Given the description of an element on the screen output the (x, y) to click on. 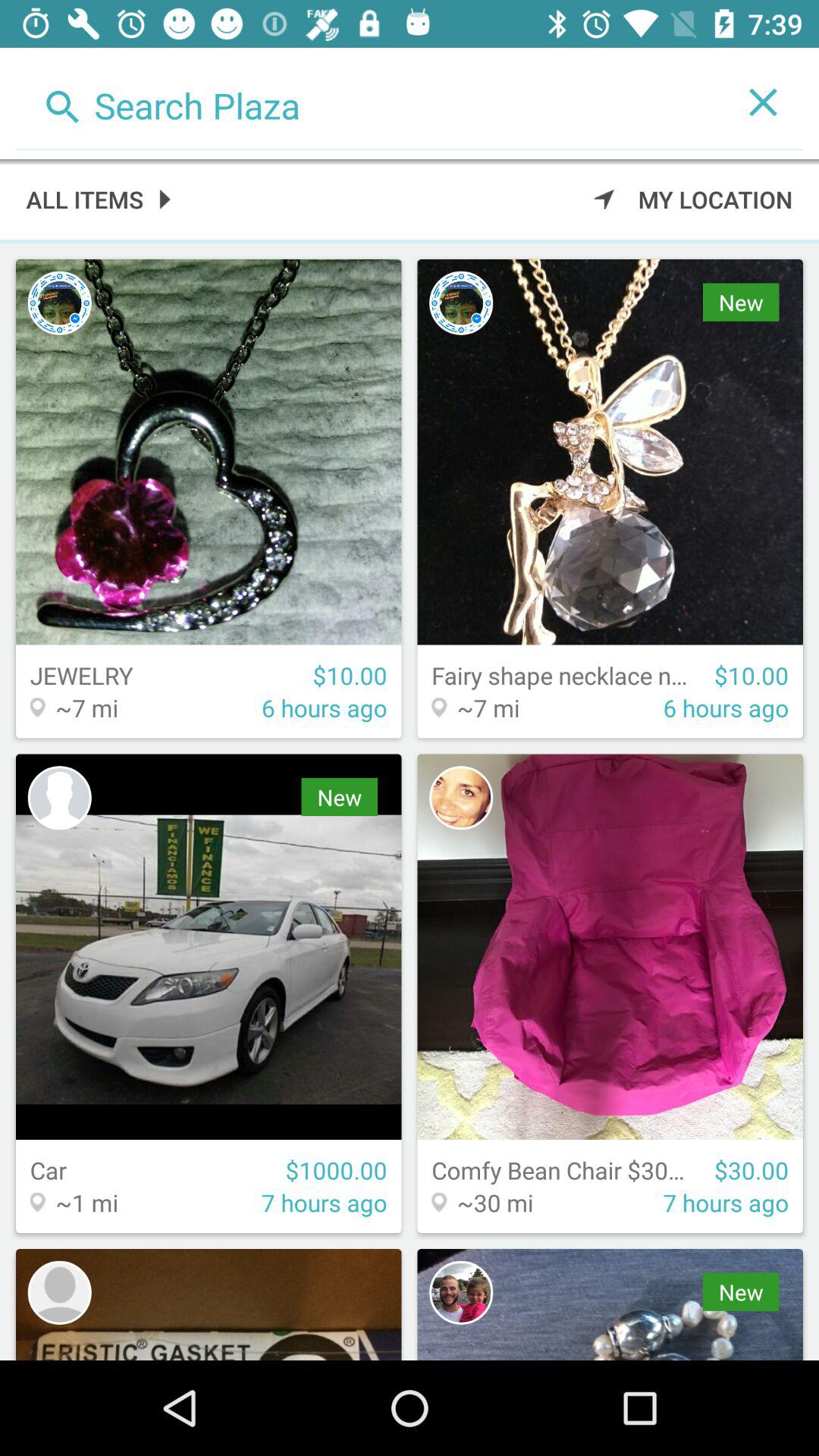
press the icon above the my location icon (369, 102)
